Given the description of an element on the screen output the (x, y) to click on. 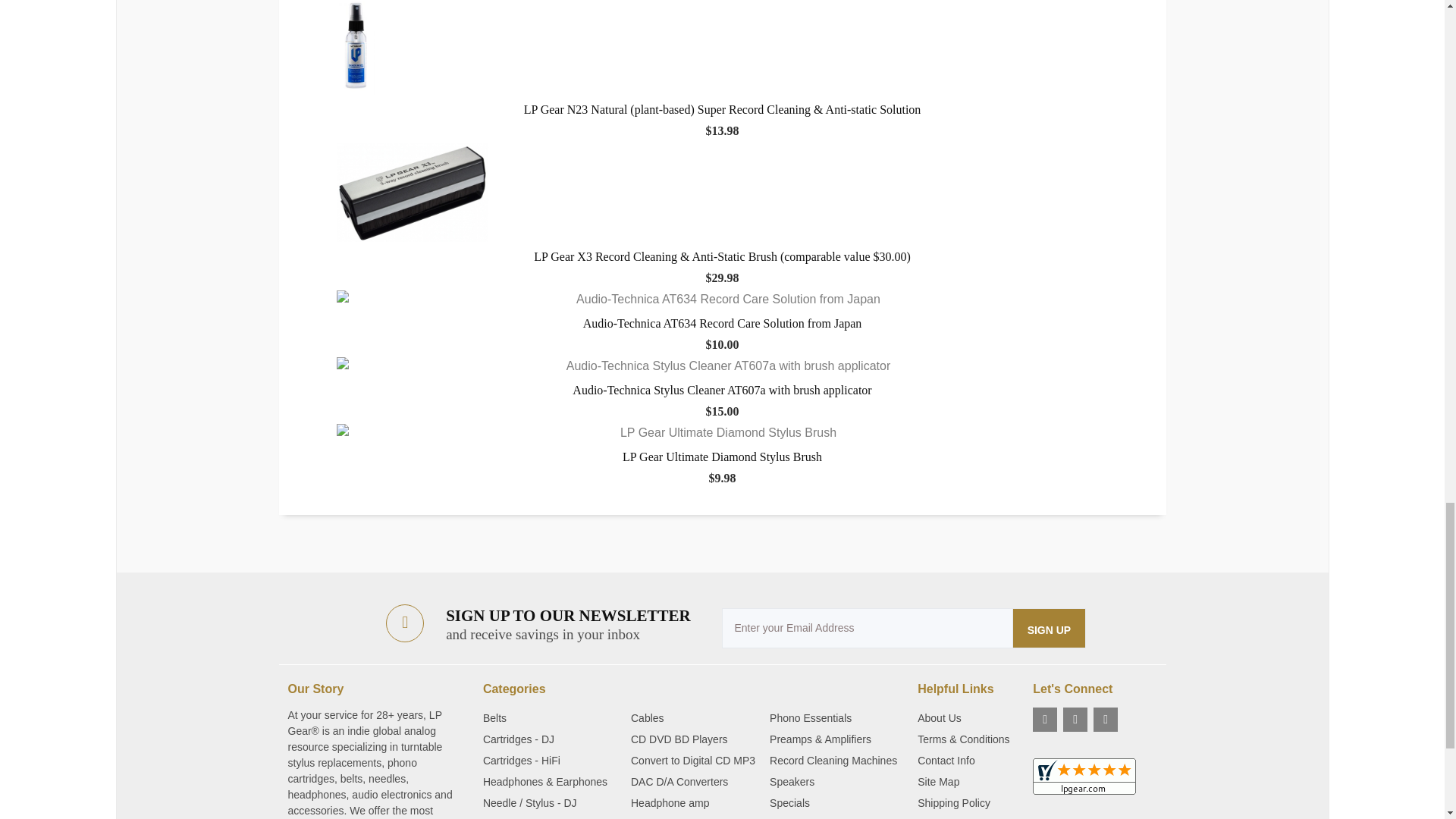
Sign Up (1049, 628)
